Given the description of an element on the screen output the (x, y) to click on. 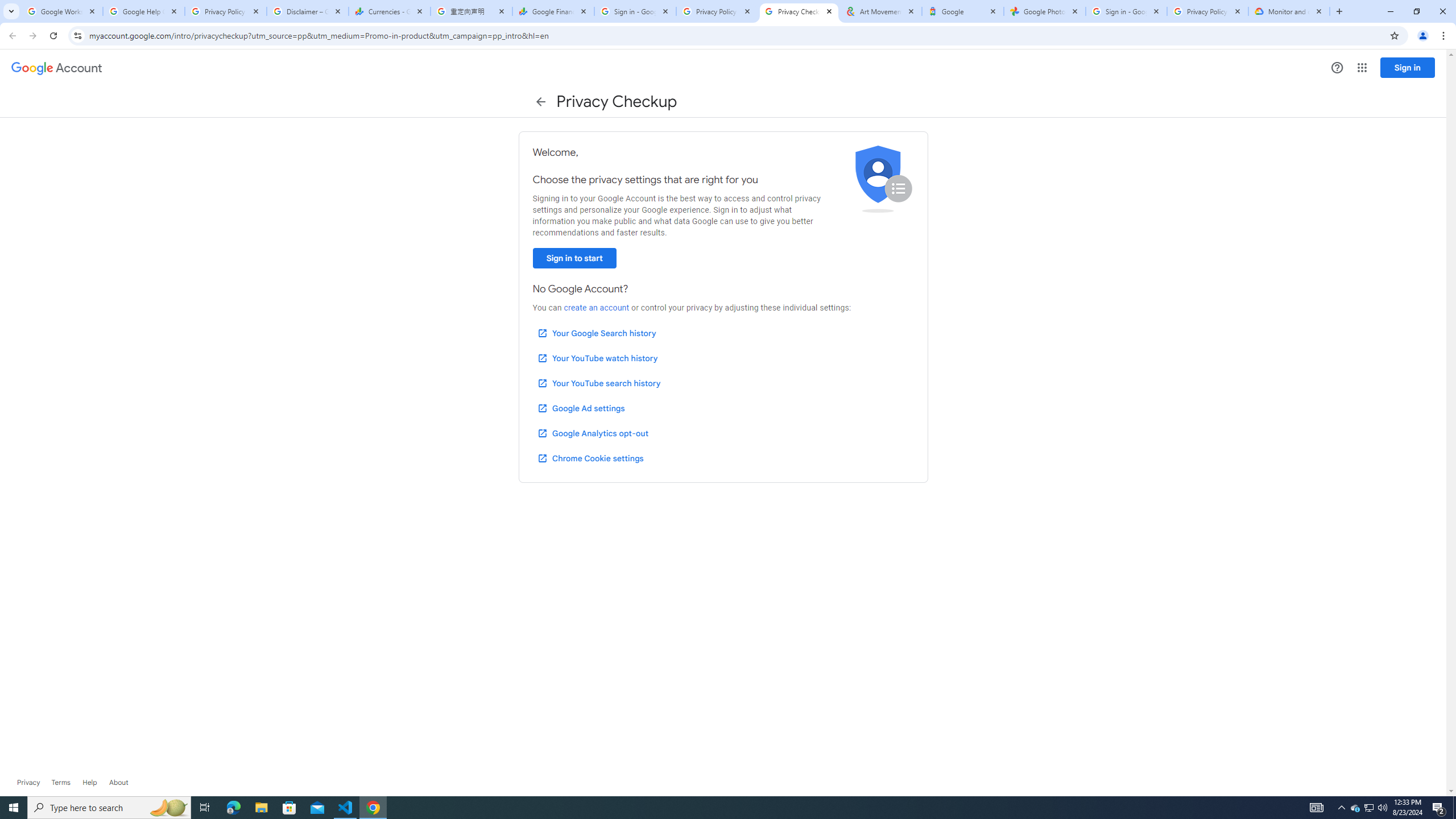
Google Ad settings (580, 408)
